Given the description of an element on the screen output the (x, y) to click on. 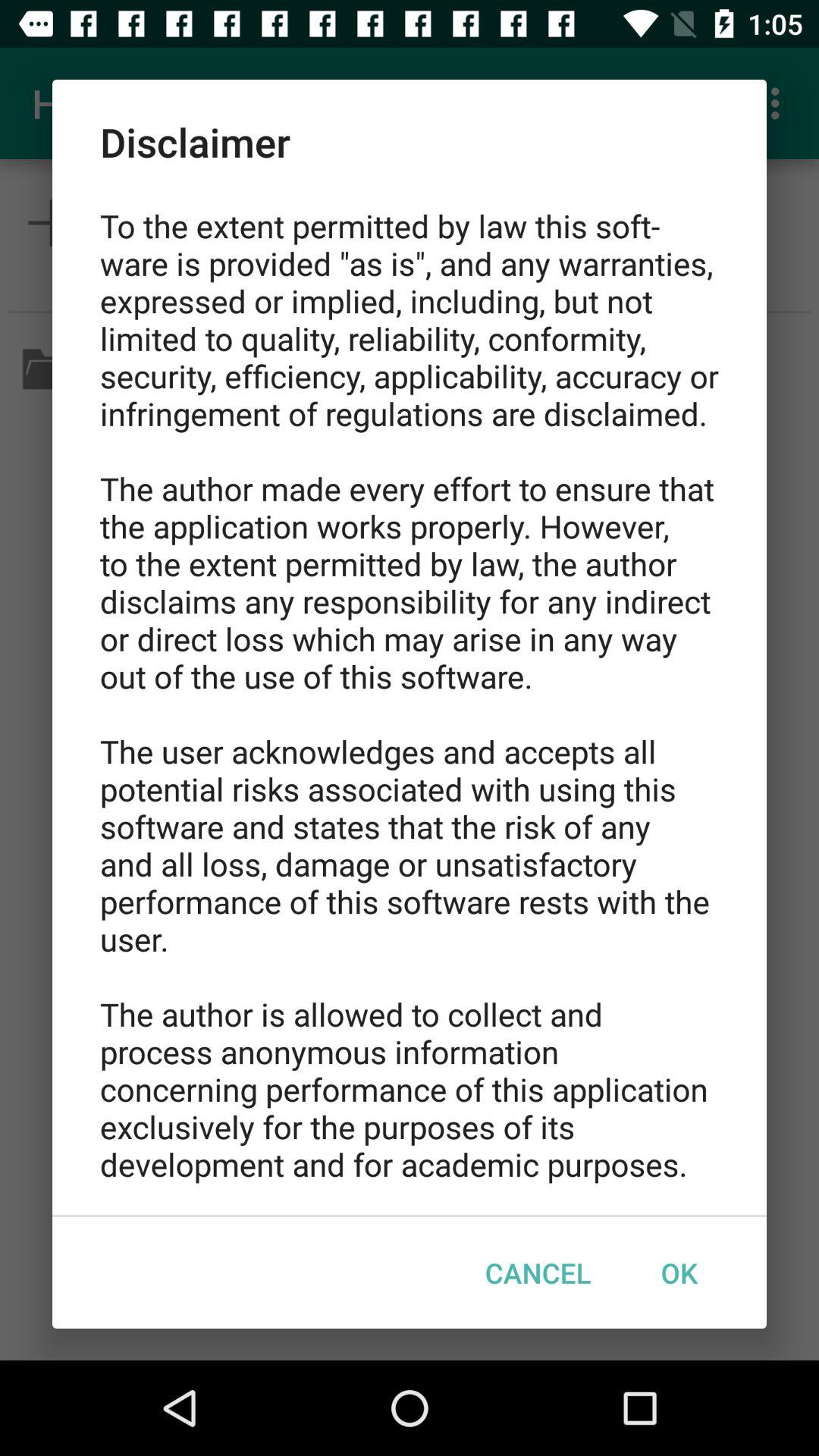
click ok at the bottom right corner (678, 1272)
